Given the description of an element on the screen output the (x, y) to click on. 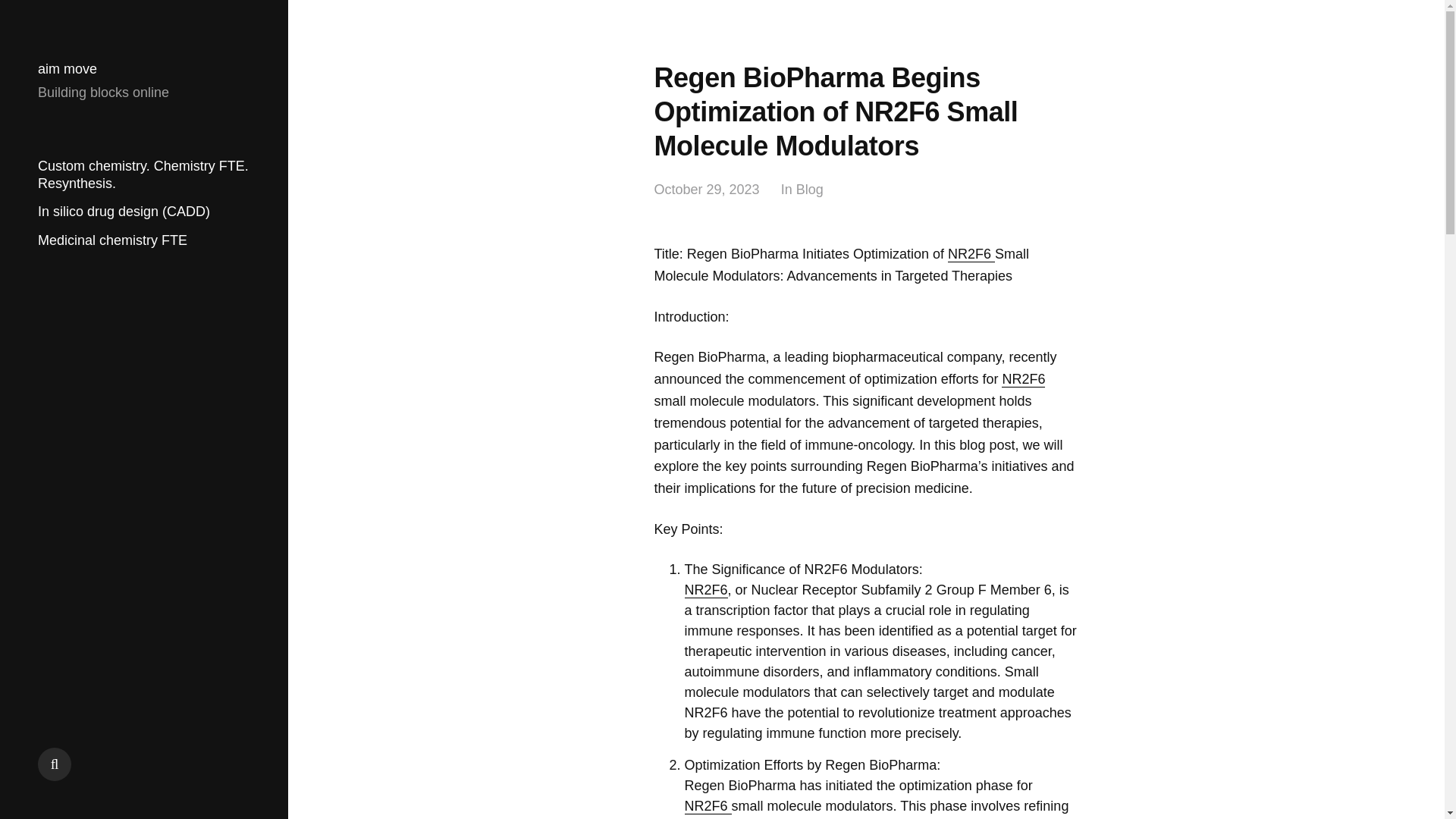
October 29, 2023 (705, 189)
NR2F6 (705, 590)
Blog (810, 189)
aim move (67, 68)
NR2F6 (1023, 379)
Custom chemistry. Chemistry FTE. Resynthesis. (142, 174)
NR2F6 (970, 254)
Medicinal chemistry FTE (112, 239)
NR2F6 (707, 806)
